Given the description of an element on the screen output the (x, y) to click on. 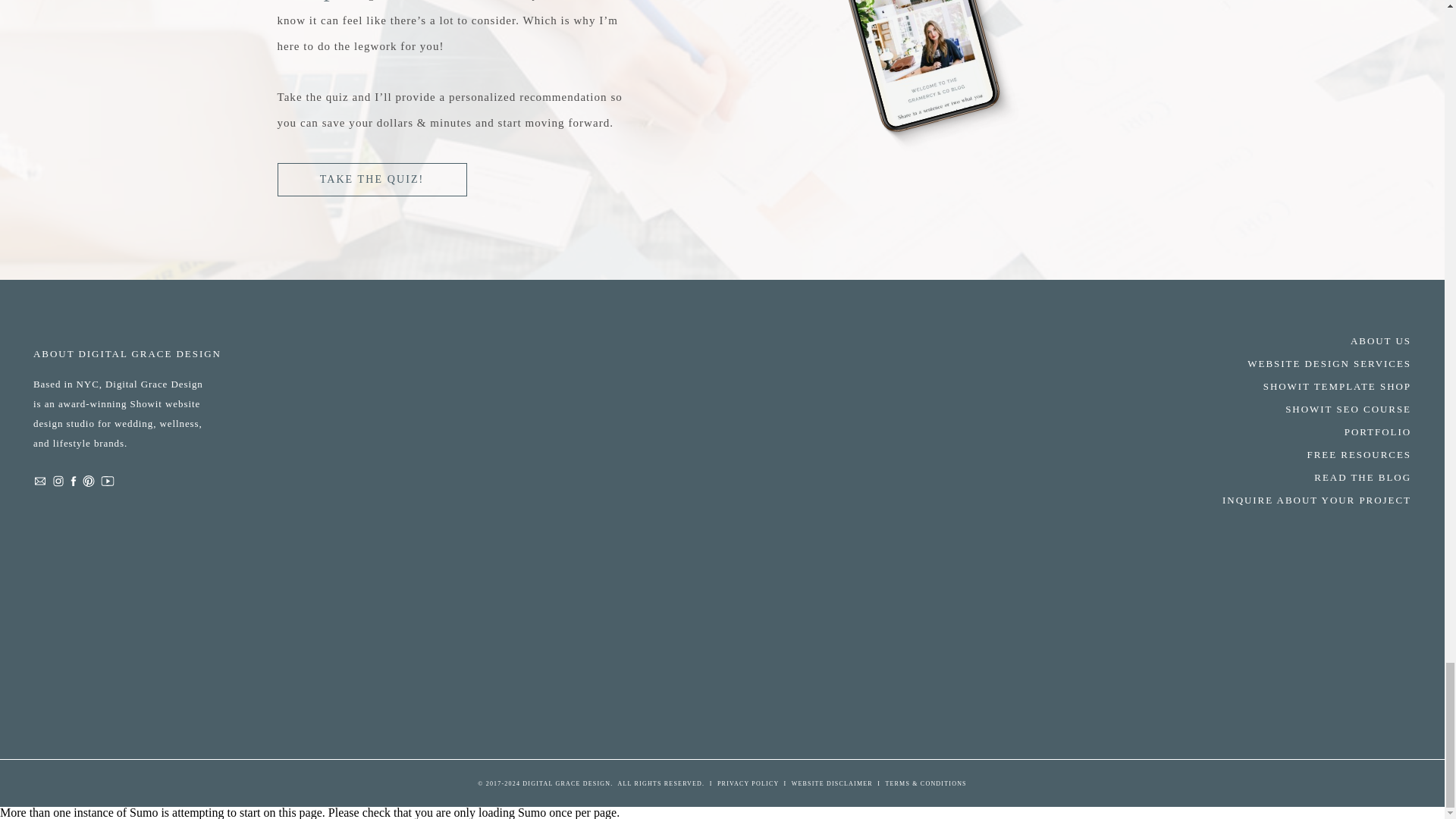
ABOUT US (1306, 339)
READ THE BLOG (1306, 476)
FREE RESOURCES (1306, 453)
INQUIRE ABOUT YOUR PROJECT (1306, 498)
SHOWIT TEMPLATE SHOP (1306, 385)
SHOWIT SEO COURSE (1306, 407)
PORTFOLIO (1306, 430)
TAKE THE QUIZ! (372, 179)
WEBSITE DESIGN SERVICES (1306, 362)
